Given the description of an element on the screen output the (x, y) to click on. 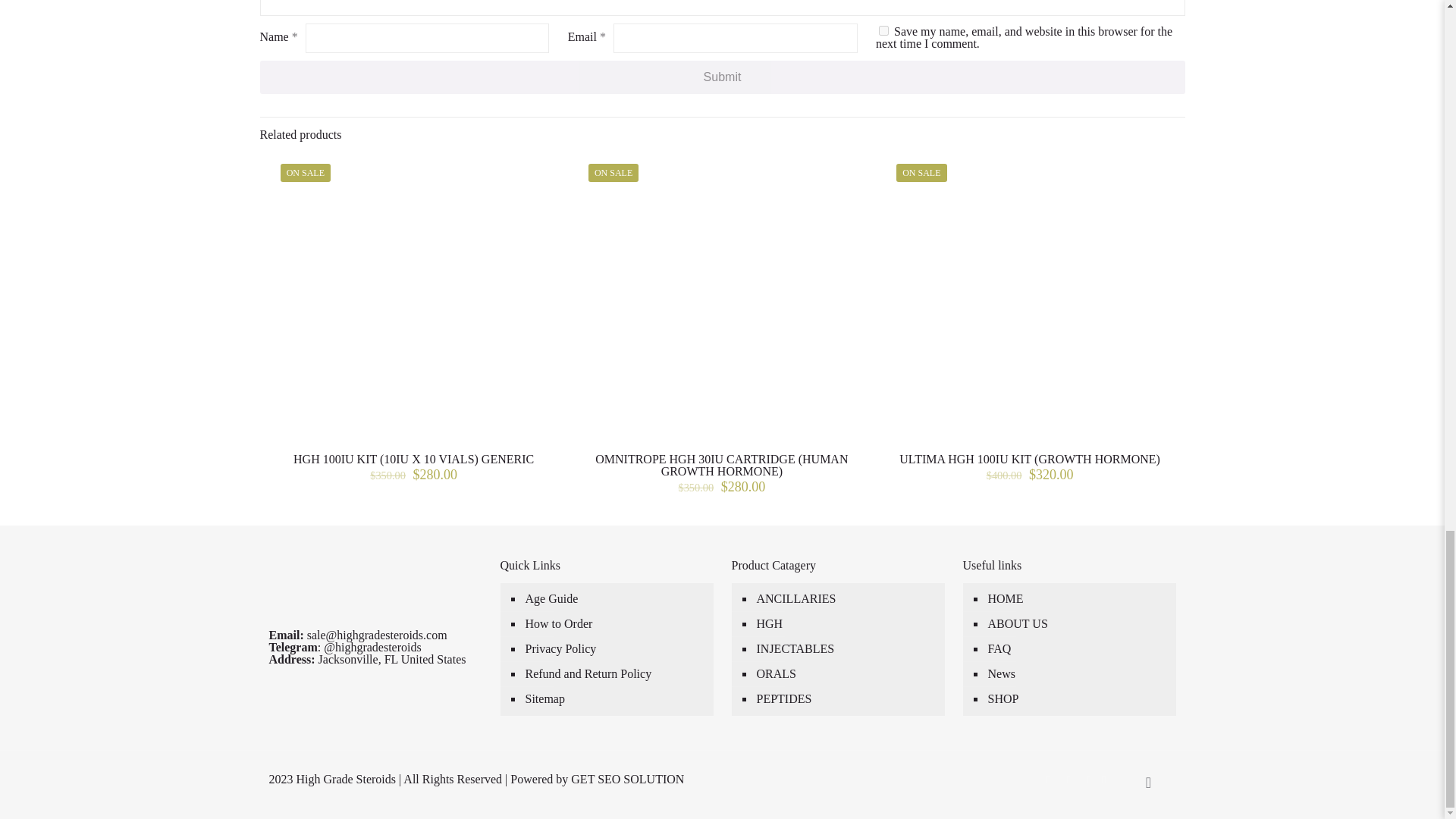
Pinterest (1069, 779)
Instagram (1089, 779)
Facebook (1049, 779)
yes (883, 30)
Submit (722, 77)
